Given the description of an element on the screen output the (x, y) to click on. 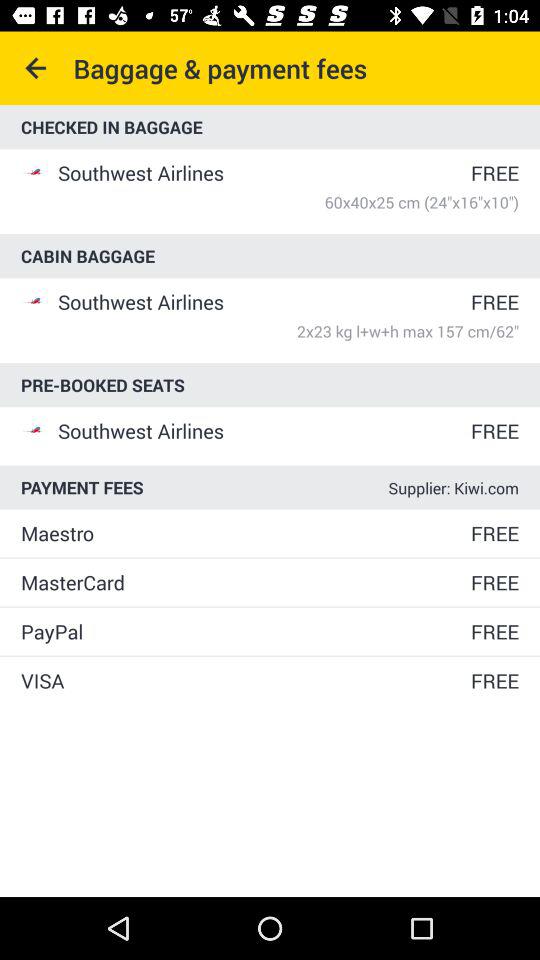
flip until the visa (244, 680)
